Given the description of an element on the screen output the (x, y) to click on. 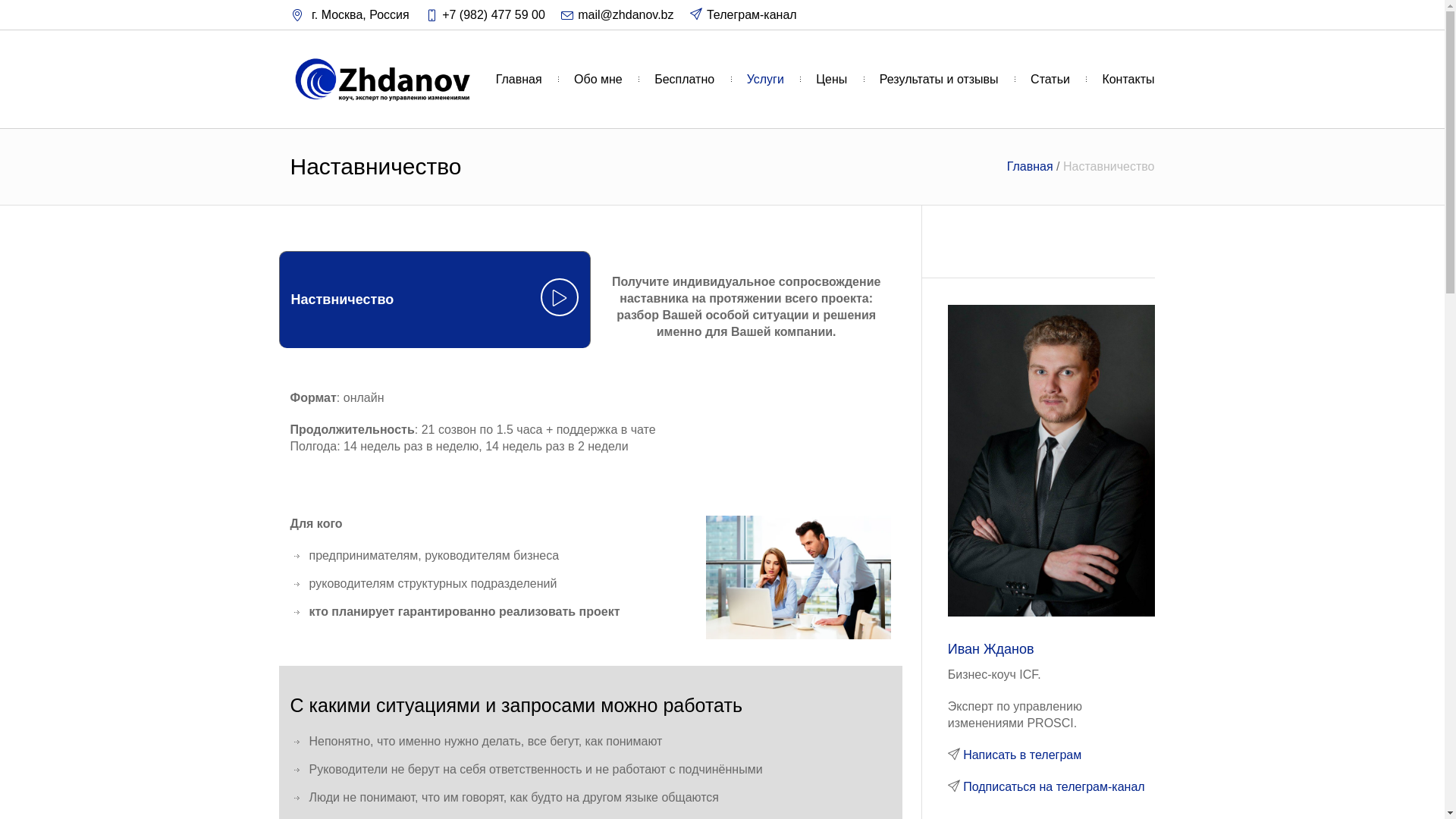
mail@zhdanov.bz Element type: text (625, 14)
